Given the description of an element on the screen output the (x, y) to click on. 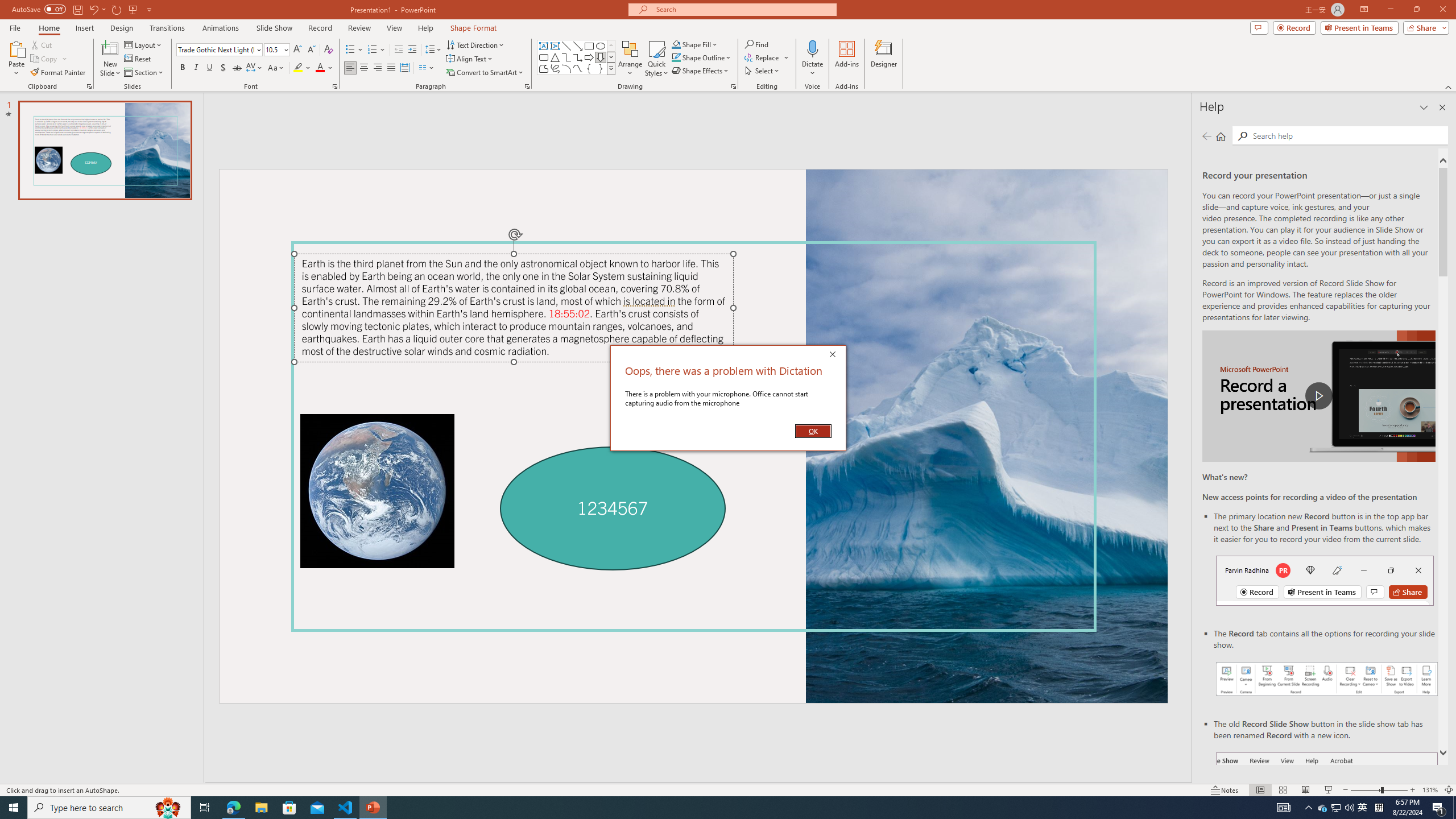
Italic (195, 67)
File Explorer (261, 807)
Zoom 131% (1430, 790)
Justify (390, 67)
Distributed (404, 67)
Reset (138, 58)
Columns (426, 67)
Font... (334, 85)
Isosceles Triangle (554, 57)
Shape Fill (694, 44)
Running applications (700, 807)
Text Highlight Color Yellow (297, 67)
